Given the description of an element on the screen output the (x, y) to click on. 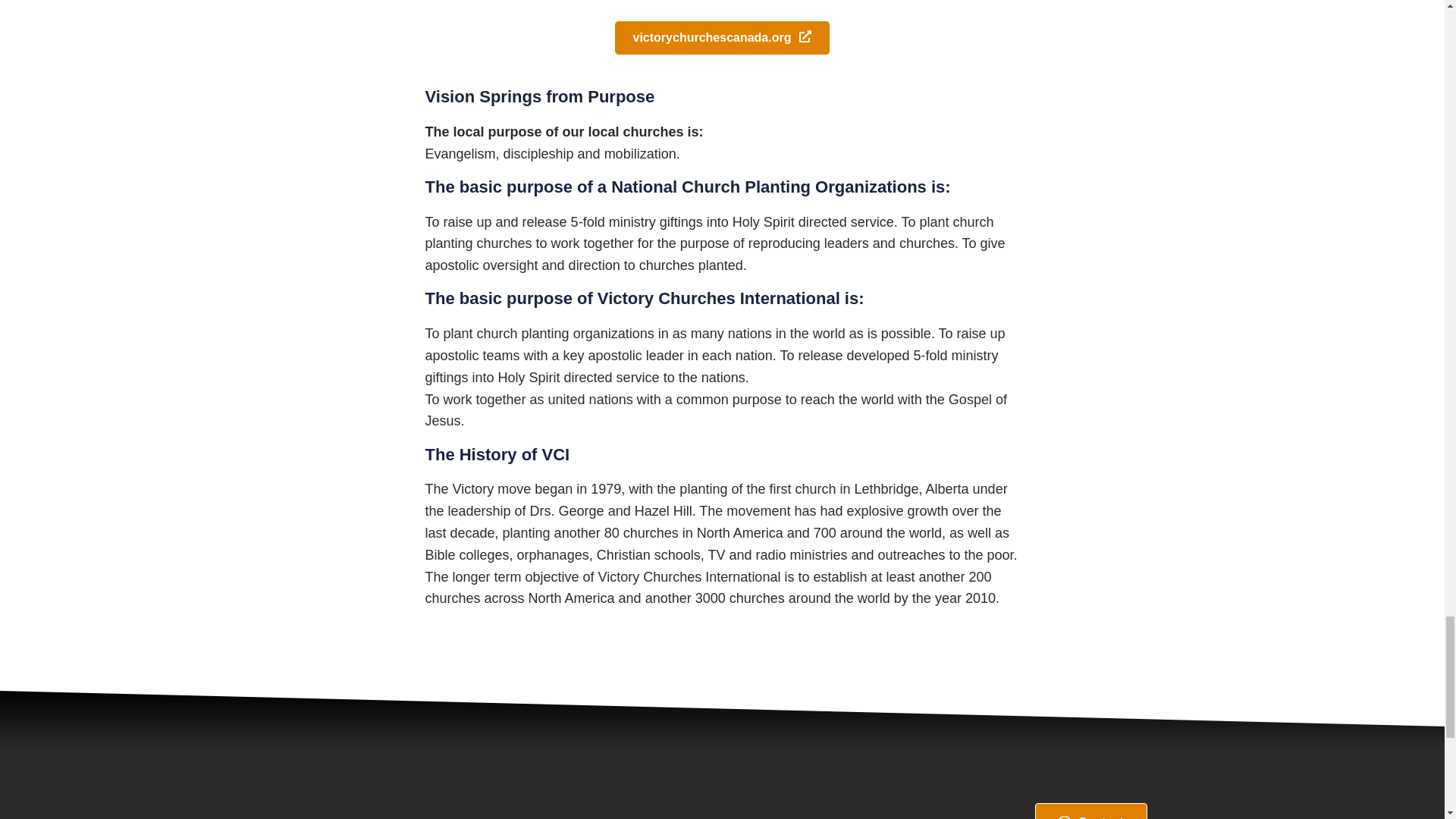
victorychurchescanada.org (722, 37)
